Given the description of an element on the screen output the (x, y) to click on. 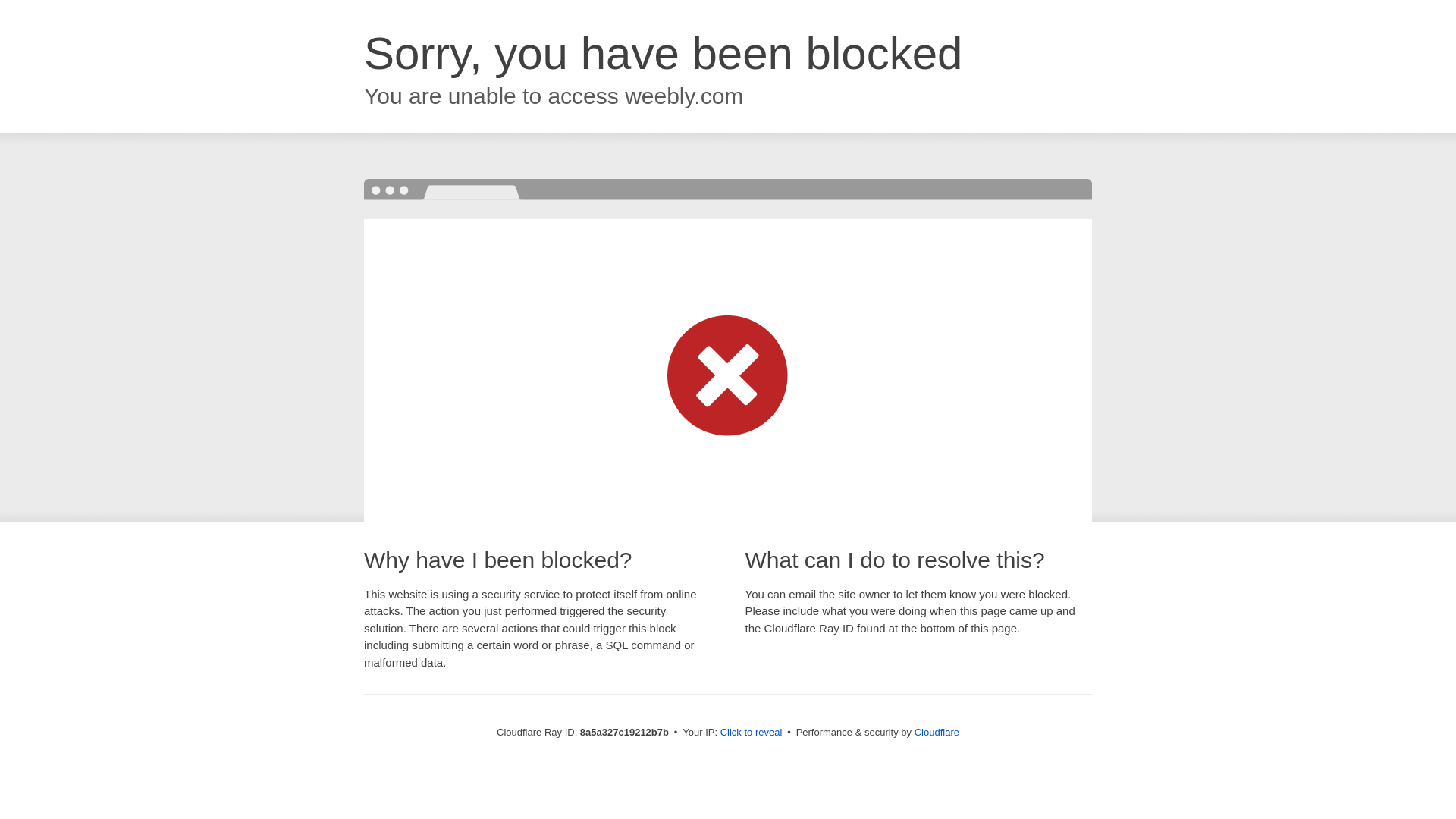
Click to reveal (751, 732)
Cloudflare (936, 731)
